Given the description of an element on the screen output the (x, y) to click on. 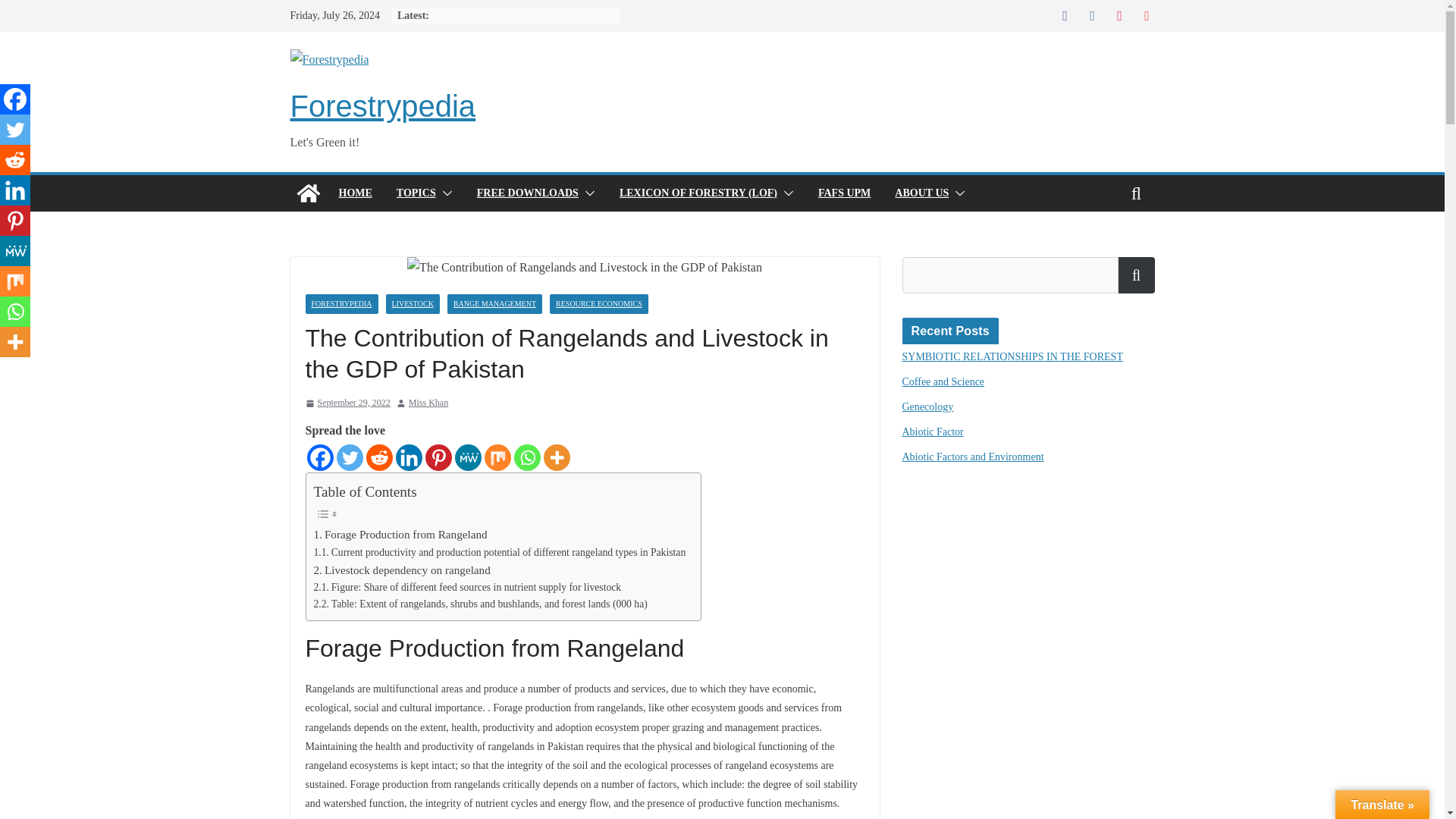
Forestrypedia (382, 105)
MeWe (467, 457)
Forestrypedia (382, 105)
Pinterest (438, 457)
Twitter (349, 457)
3:14 pm (347, 402)
Facebook (319, 457)
Linkedin (409, 457)
Mix (497, 457)
TOPICS (415, 192)
Reddit (378, 457)
Miss Khan (428, 402)
Forestrypedia (307, 193)
HOME (354, 192)
